Given the description of an element on the screen output the (x, y) to click on. 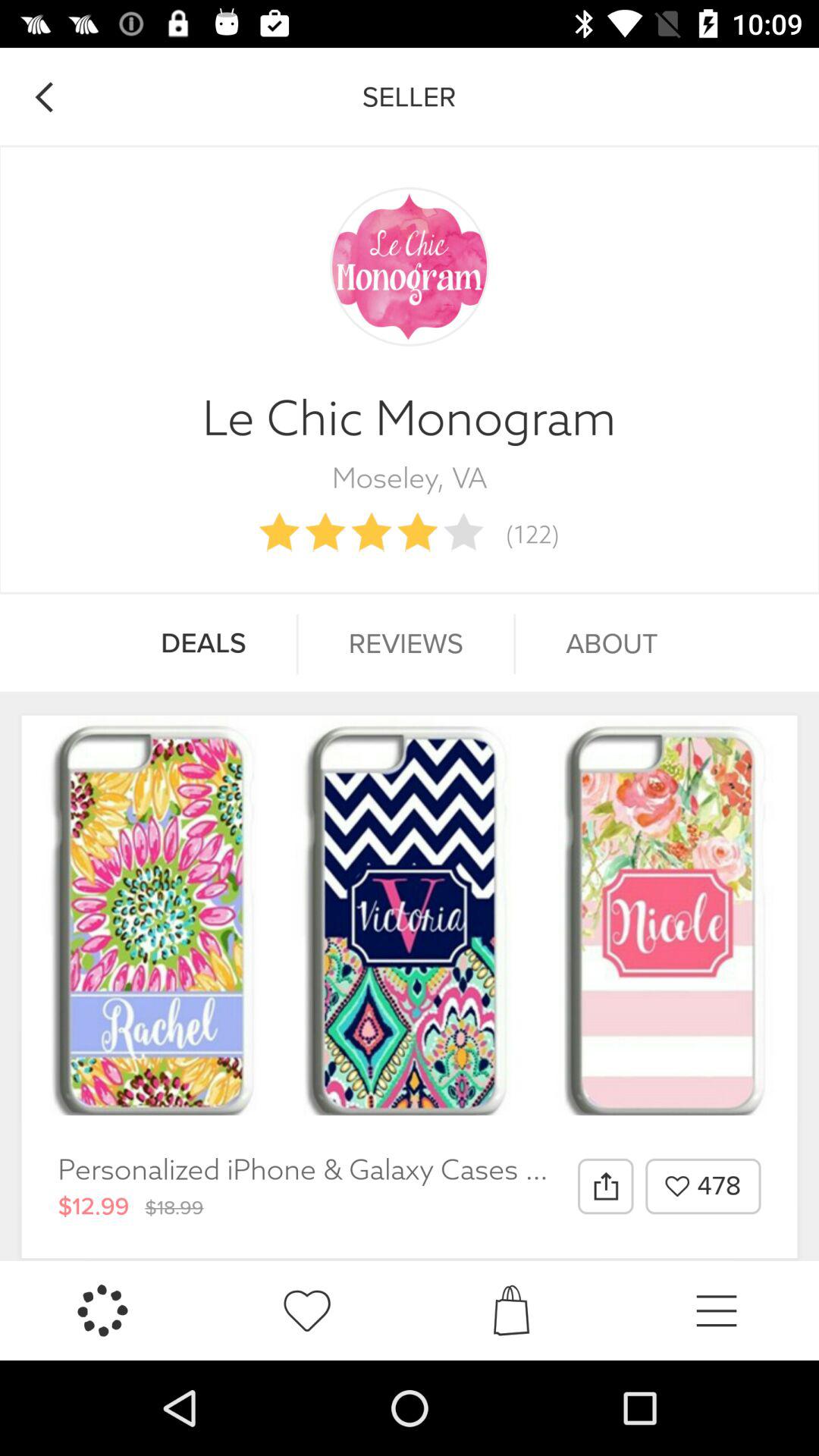
tap icon at the top left corner (43, 97)
